Given the description of an element on the screen output the (x, y) to click on. 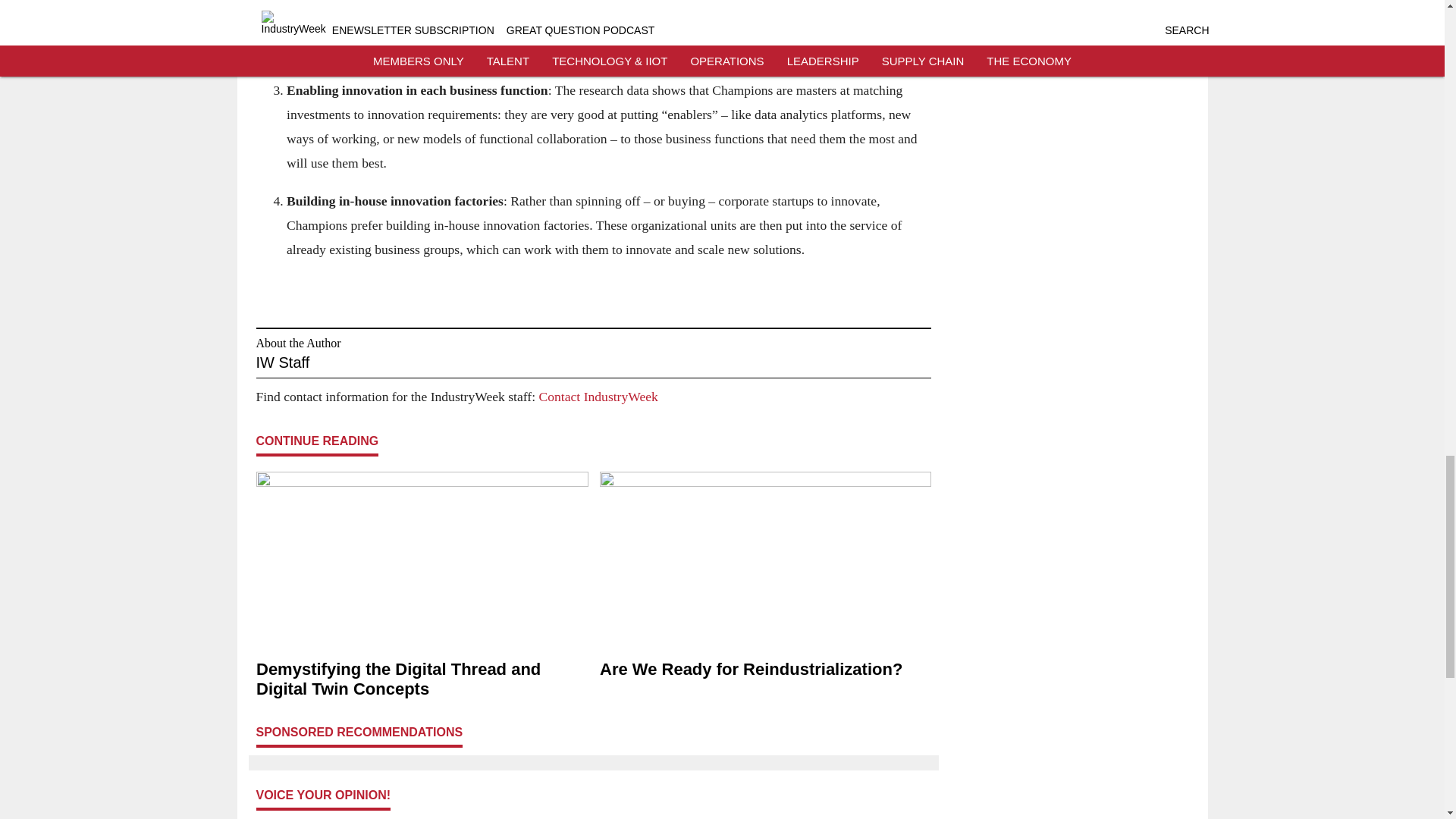
Demystifying the Digital Thread and Digital Twin Concepts (422, 680)
Are We Ready for Reindustrialization? (764, 670)
Contact IndustryWeek (598, 396)
